Given the description of an element on the screen output the (x, y) to click on. 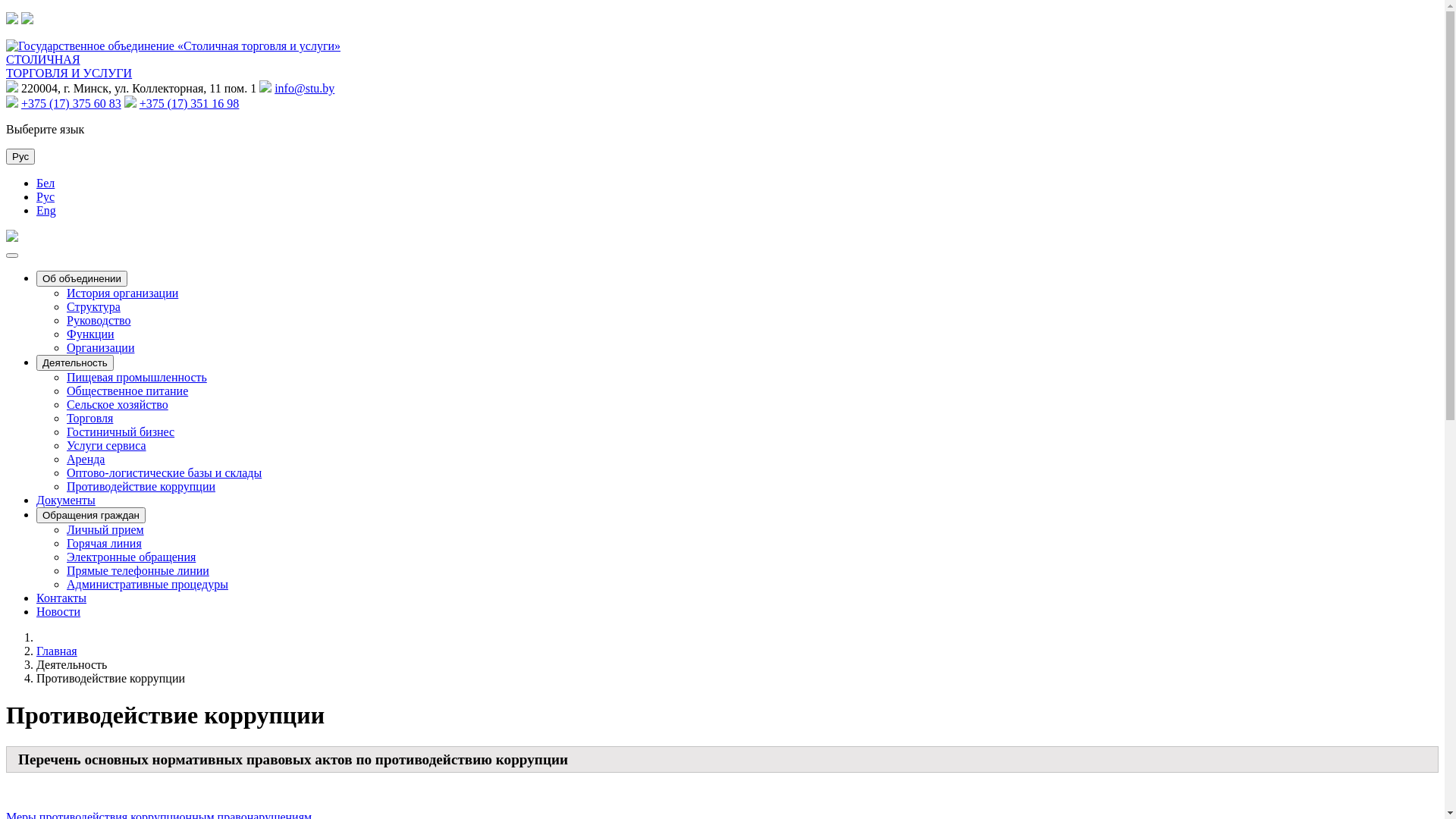
+375 (17) 351 16 98 Element type: text (189, 103)
info@stu.by Element type: text (304, 87)
Eng Element type: text (46, 209)
+375 (17) 375 60 83 Element type: text (71, 103)
